Given the description of an element on the screen output the (x, y) to click on. 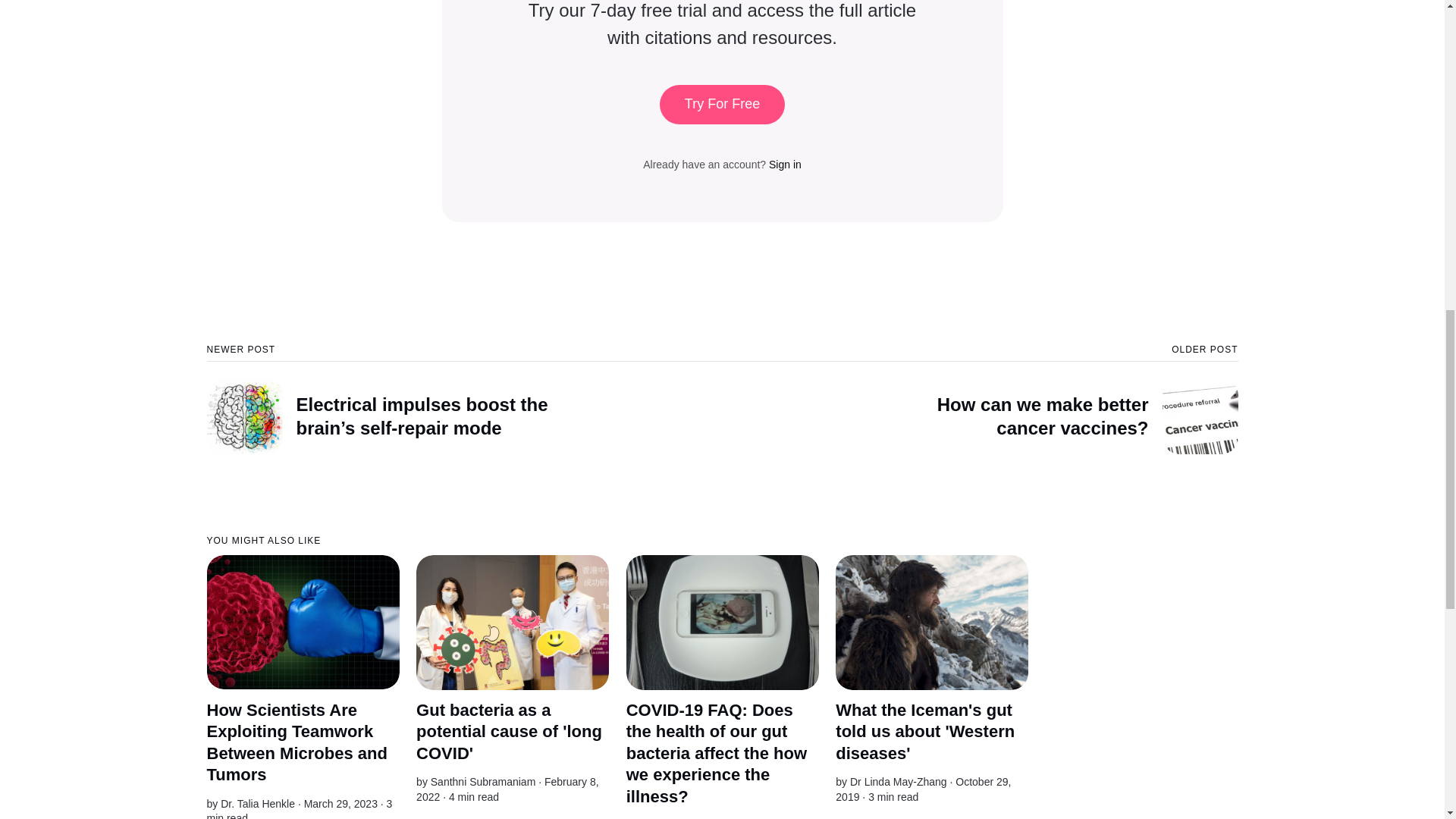
Try For Free (721, 104)
What the Iceman's gut told us about 'Western diseases' (924, 731)
Sign in (785, 164)
Gut bacteria as a potential cause of 'long COVID' (509, 731)
Dr Linda May-Zhang (898, 781)
Santhni Subramaniam (979, 399)
Dr. Talia Henkle (482, 781)
